Given the description of an element on the screen output the (x, y) to click on. 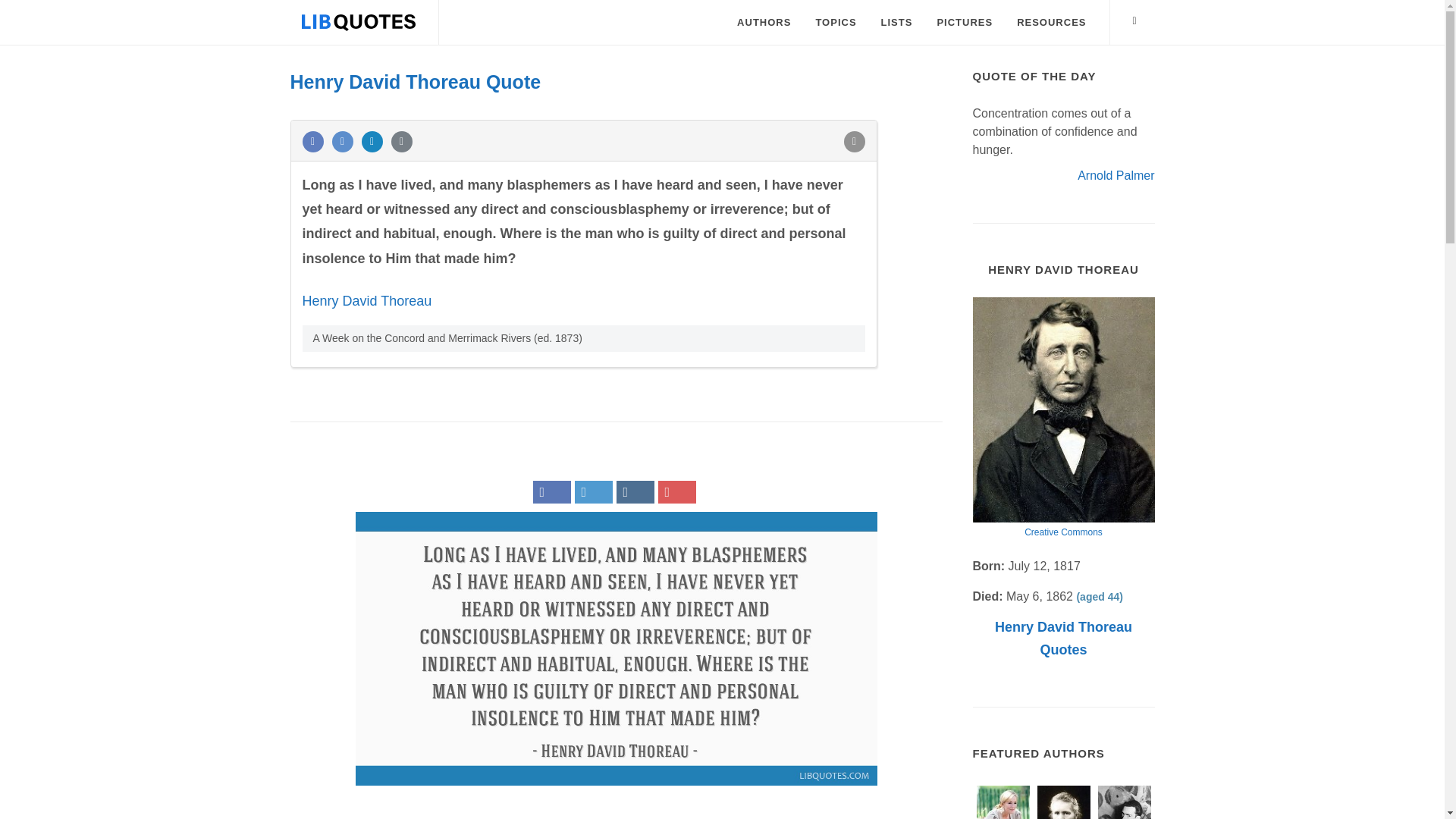
LISTS (896, 22)
Henry David Thoreau (365, 300)
TOPICS (835, 22)
Arnold Palmer (1115, 174)
AUTHORS (763, 22)
Henry David Thoreau Quotes (1063, 638)
Creative Commons (1063, 532)
RESOURCES (1051, 22)
PICTURES (964, 22)
